Given the description of an element on the screen output the (x, y) to click on. 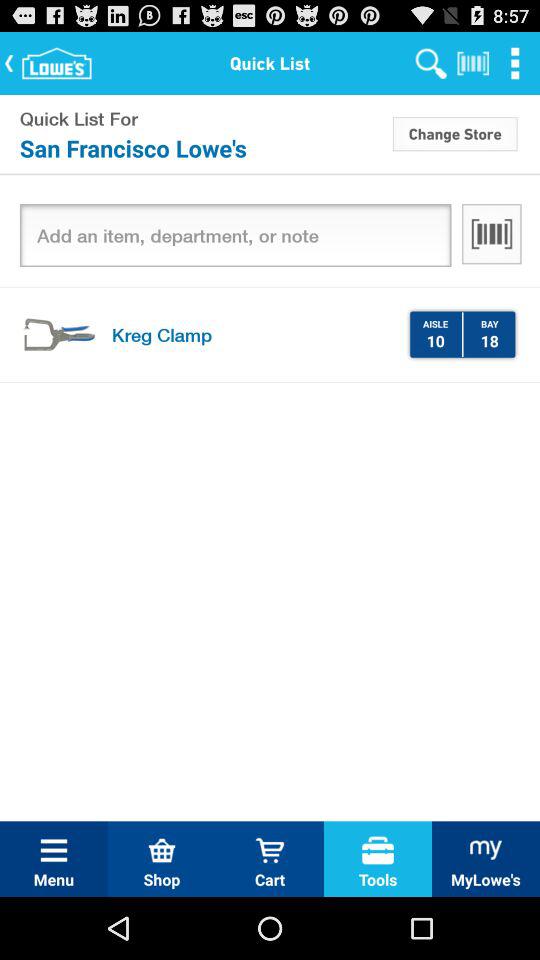
turn on the item next to change store icon (204, 147)
